Given the description of an element on the screen output the (x, y) to click on. 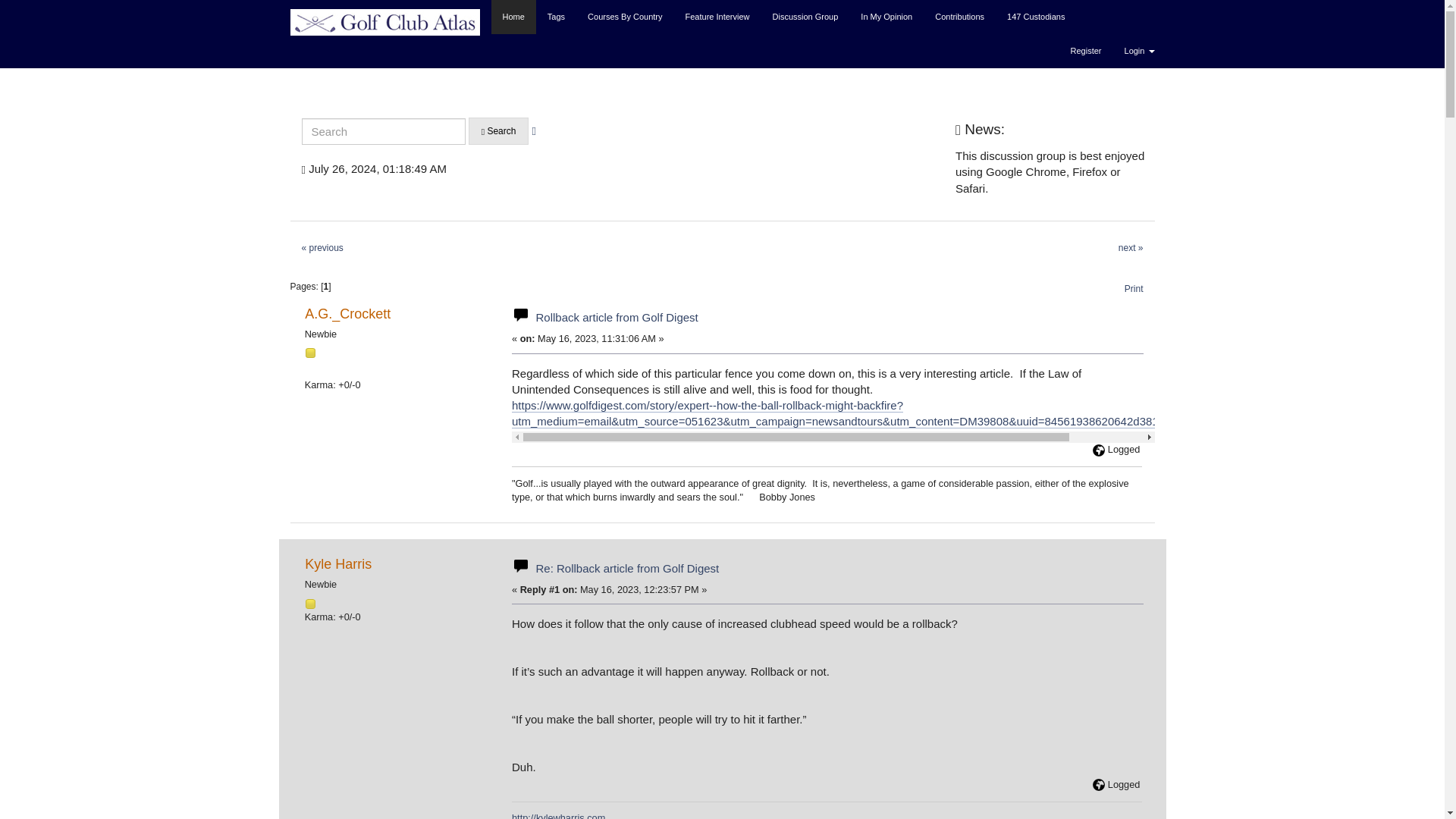
Register (1086, 50)
Feature Interview (717, 17)
Contributions (959, 17)
Tags (555, 17)
Courses By Country (624, 17)
In My Opinion (885, 17)
Search (498, 130)
Re: Rollback article from Golf Digest (627, 567)
Home (513, 17)
147 Custodians (1035, 17)
Rollback article from Golf Digest (616, 317)
Discussion Group (805, 17)
Print (1133, 289)
Login (1139, 50)
